Given the description of an element on the screen output the (x, y) to click on. 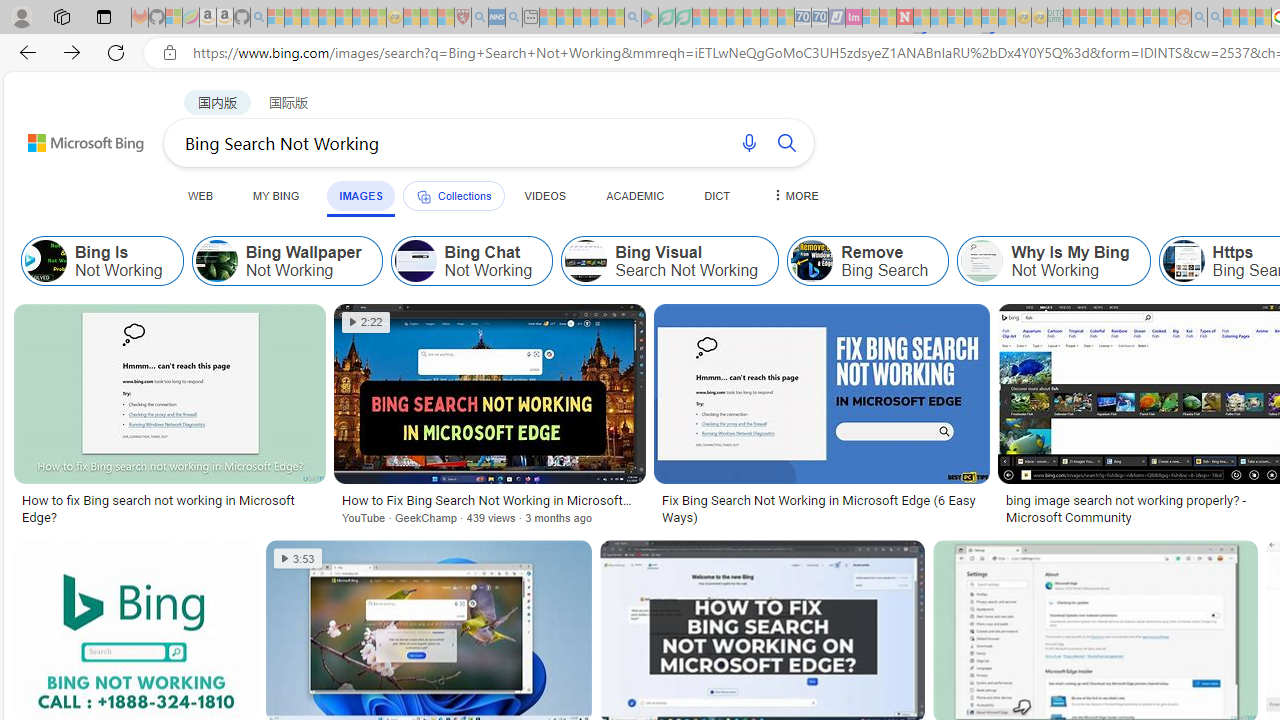
How to fix Bing search not working in Microsoft Edge? (169, 508)
Microsoft-Report a Concern to Bing - Sleeping (173, 17)
Https Bing Search (1183, 260)
Image result for Bing Search Not Working (821, 393)
Bing Wallpaper Not Working (216, 260)
MORE (793, 195)
utah sues federal government - Search - Sleeping (513, 17)
WEB (201, 195)
VIDEOS (545, 195)
DICT (717, 195)
Dropdown Menu (793, 195)
